Given the description of an element on the screen output the (x, y) to click on. 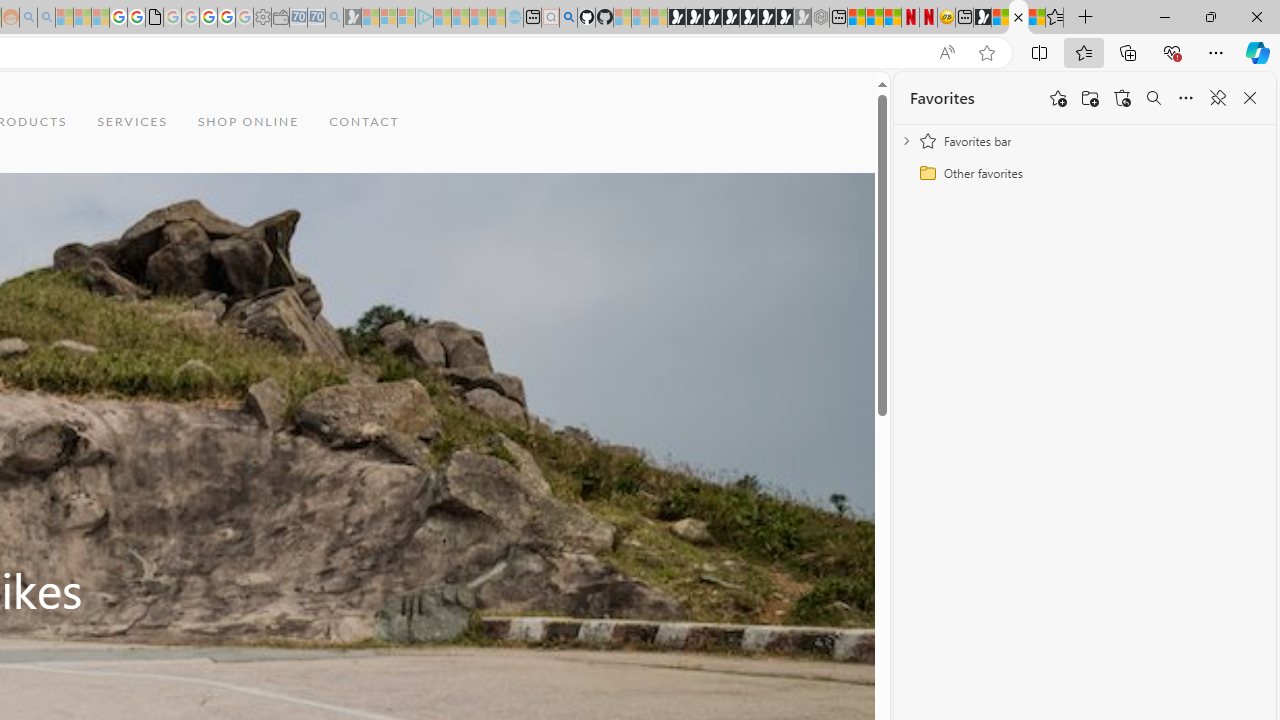
Wallet - Sleeping (280, 17)
Home | Sky Blue Bikes - Sky Blue Bikes (1017, 17)
World - MSN (1000, 17)
Unpin favorites (1217, 98)
Play Free Online Games | Games from Microsoft Start (676, 17)
Play Cave FRVR in your browser | Games from Microsoft Start (712, 17)
Search favorites (1153, 98)
Bing Real Estate - Home sales and rental listings - Sleeping (334, 17)
